Given the description of an element on the screen output the (x, y) to click on. 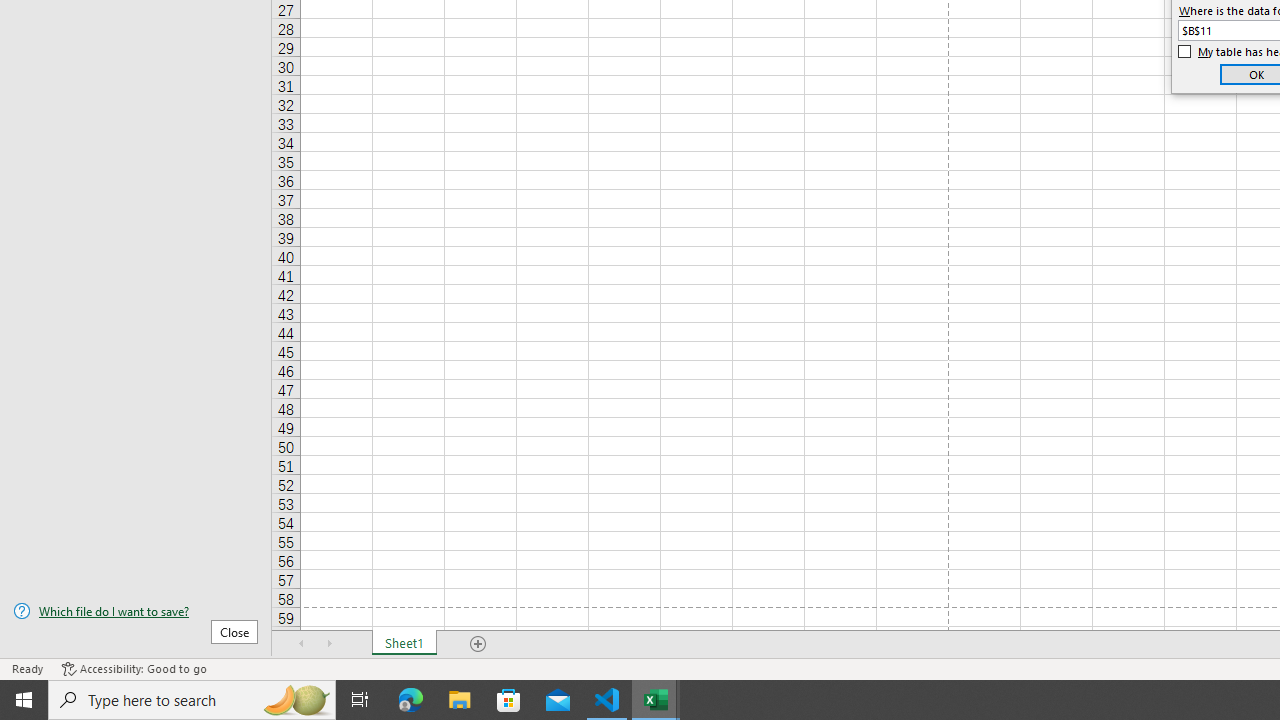
Scroll Left (302, 644)
Scroll Right (330, 644)
Add Sheet (478, 644)
Accessibility Checker Accessibility: Good to go (134, 668)
Which file do I want to save? (136, 611)
Sheet1 (404, 644)
